Given the description of an element on the screen output the (x, y) to click on. 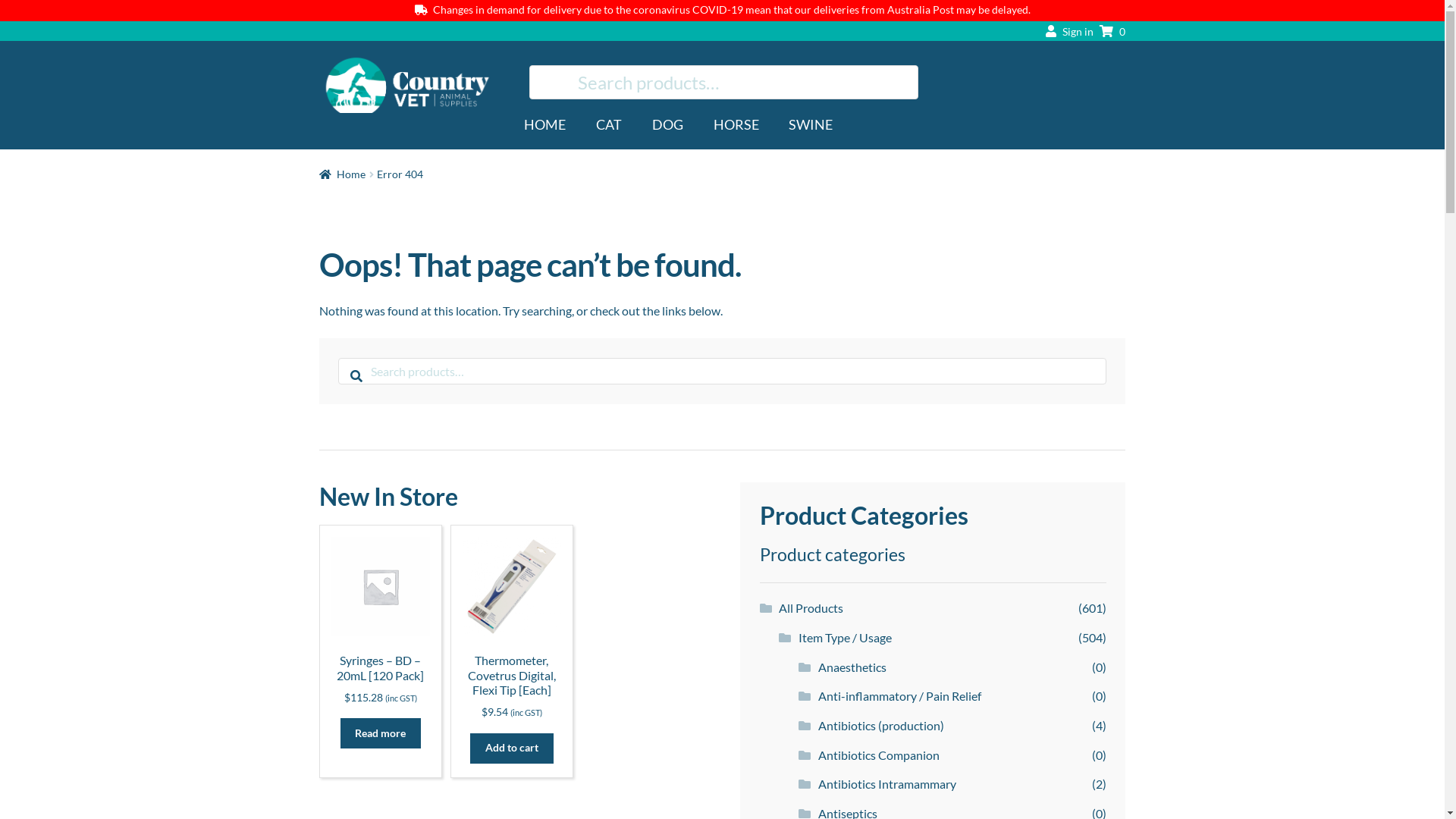
Anaesthetics Element type: text (852, 666)
0 Element type: text (1109, 30)
Sign in Element type: text (1066, 30)
CAT Element type: text (609, 117)
Antibiotics (production) Element type: text (881, 725)
Add to cart Element type: text (511, 748)
Read more Element type: text (380, 733)
Search Element type: text (337, 357)
All Products Element type: text (810, 607)
Antibiotics Intramammary Element type: text (887, 783)
HORSE Element type: text (735, 117)
HOME Element type: text (548, 117)
Item Type / Usage Element type: text (844, 637)
Anti-inflammatory / Pain Relief Element type: text (899, 695)
Home Element type: text (342, 173)
SWINE Element type: text (811, 117)
DOG Element type: text (666, 117)
Search Element type: text (528, 64)
Antibiotics Companion Element type: text (878, 754)
